Given the description of an element on the screen output the (x, y) to click on. 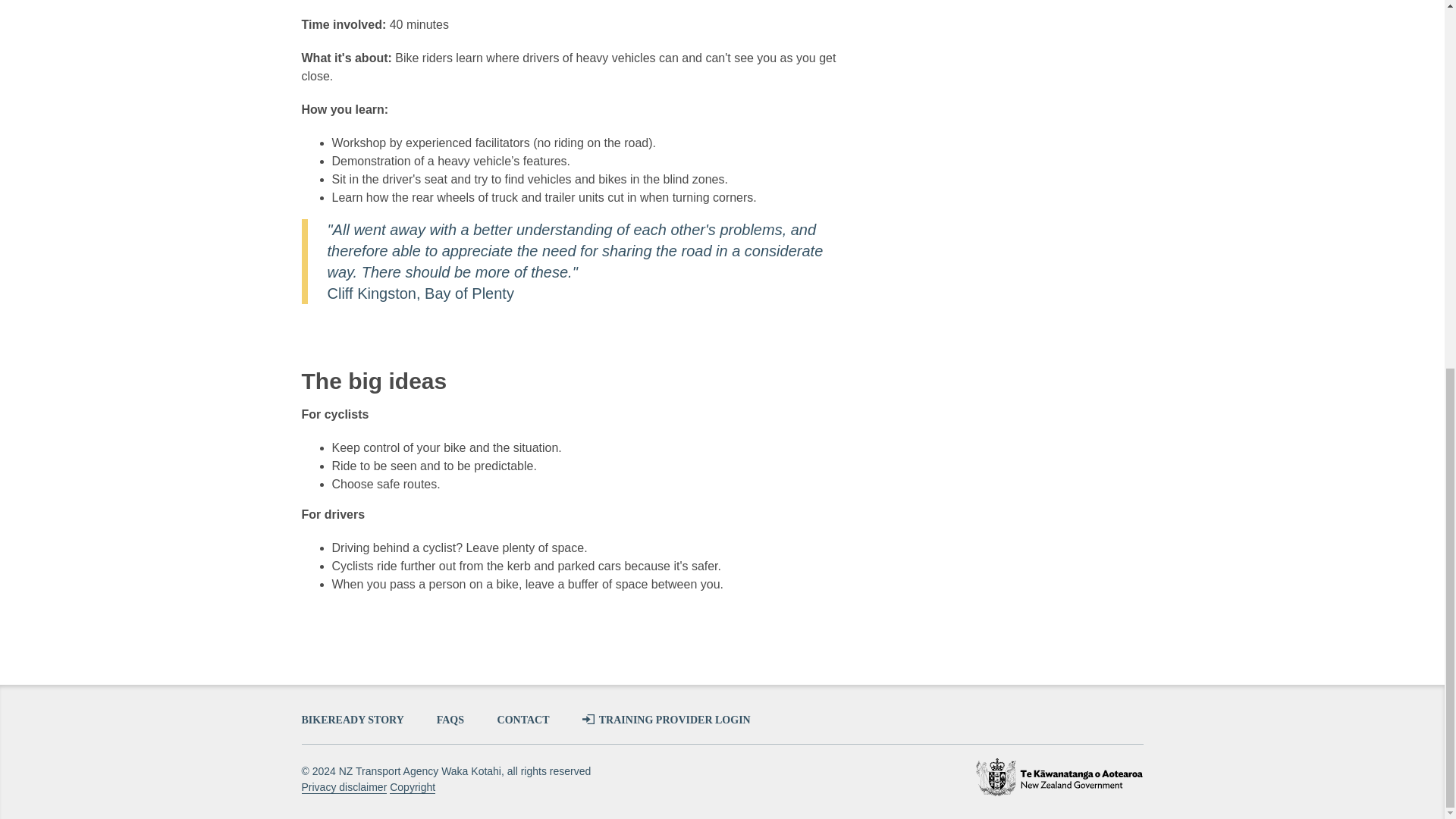
BikeReady Story (353, 719)
TrainingProviderLogin (666, 719)
FAQS (451, 719)
Contact (524, 719)
